Given the description of an element on the screen output the (x, y) to click on. 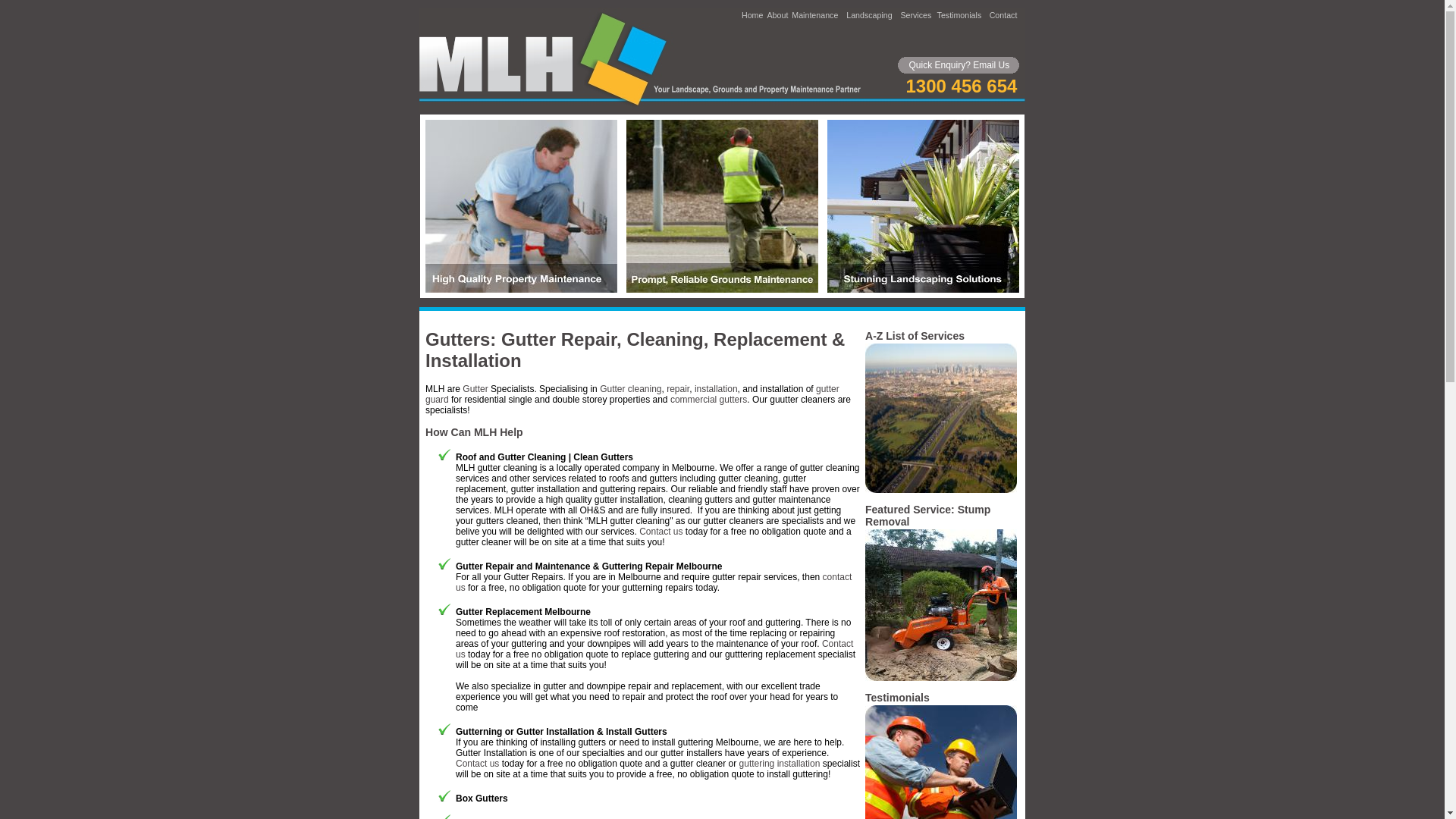
Maintenance Element type: text (814, 14)
About Element type: text (777, 14)
Testimonials Element type: text (959, 14)
Featured Service: Stump Removal - Click for more information Element type: hover (940, 677)
Services Element type: text (915, 14)
installation Element type: text (715, 388)
gutter guard Element type: text (632, 393)
Contact us Element type: text (654, 648)
Contact us Element type: text (660, 531)
Gutter cleaning Element type: text (630, 388)
Property Maintenance | Property Maintenance Services Element type: hover (521, 289)
Quick Enquiry? Email Us  Element type: text (959, 64)
Home Element type: text (751, 14)
Gutter Element type: text (474, 388)
Landscaping Element type: text (868, 14)
commercial gutters Element type: text (708, 399)
Landscaping | Landscaping Melbourne Element type: hover (923, 289)
contact us Element type: text (653, 582)
guttering installation Element type: text (779, 763)
Contact Element type: text (1003, 14)
Contact us Element type: text (476, 763)
repair Element type: text (677, 388)
